Given the description of an element on the screen output the (x, y) to click on. 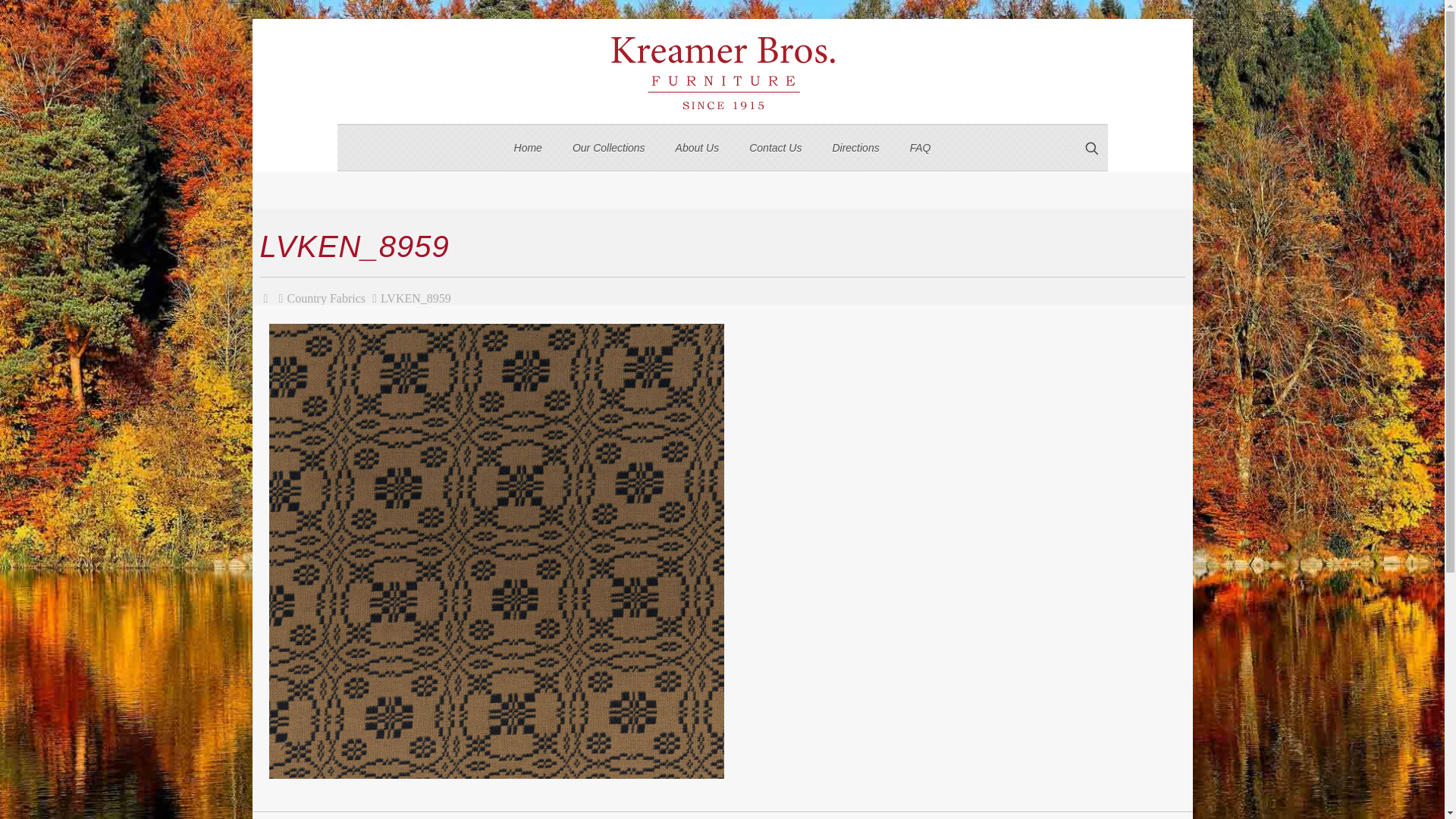
Our Collections (609, 147)
Contact Us (774, 147)
FAQ (920, 147)
Country Fabrics (325, 297)
Kreamer Brothers Furniture (721, 70)
Home (528, 147)
About Us (698, 147)
Directions (854, 147)
